Given the description of an element on the screen output the (x, y) to click on. 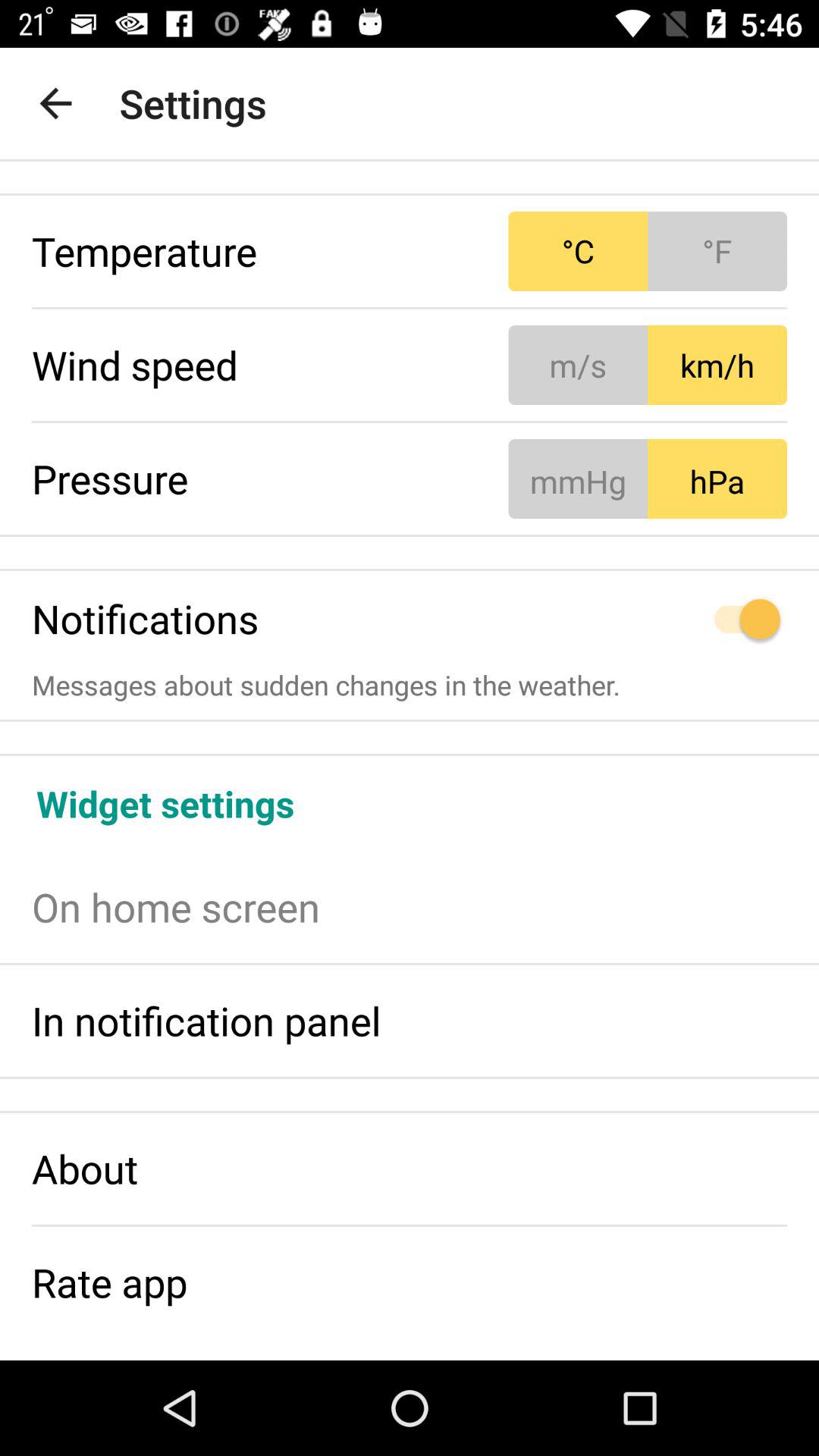
open the item above messages about sudden item (647, 618)
